Given the description of an element on the screen output the (x, y) to click on. 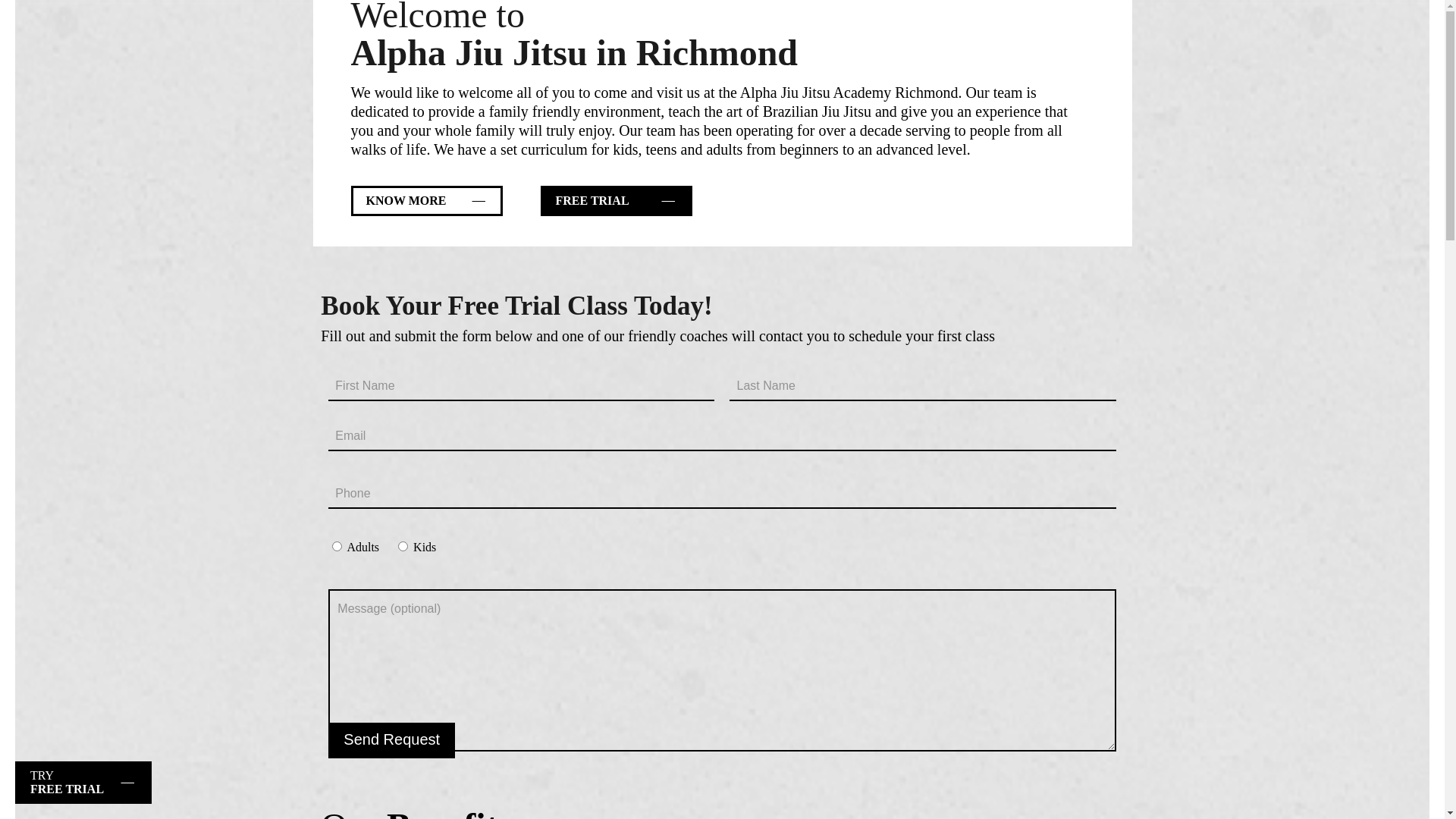
KNOW MORE Element type: text (426, 200)
Send Request Element type: text (391, 740)
FREE TRIAL Element type: text (615, 200)
TRY
FREE TRIAL Element type: text (83, 782)
